Given the description of an element on the screen output the (x, y) to click on. 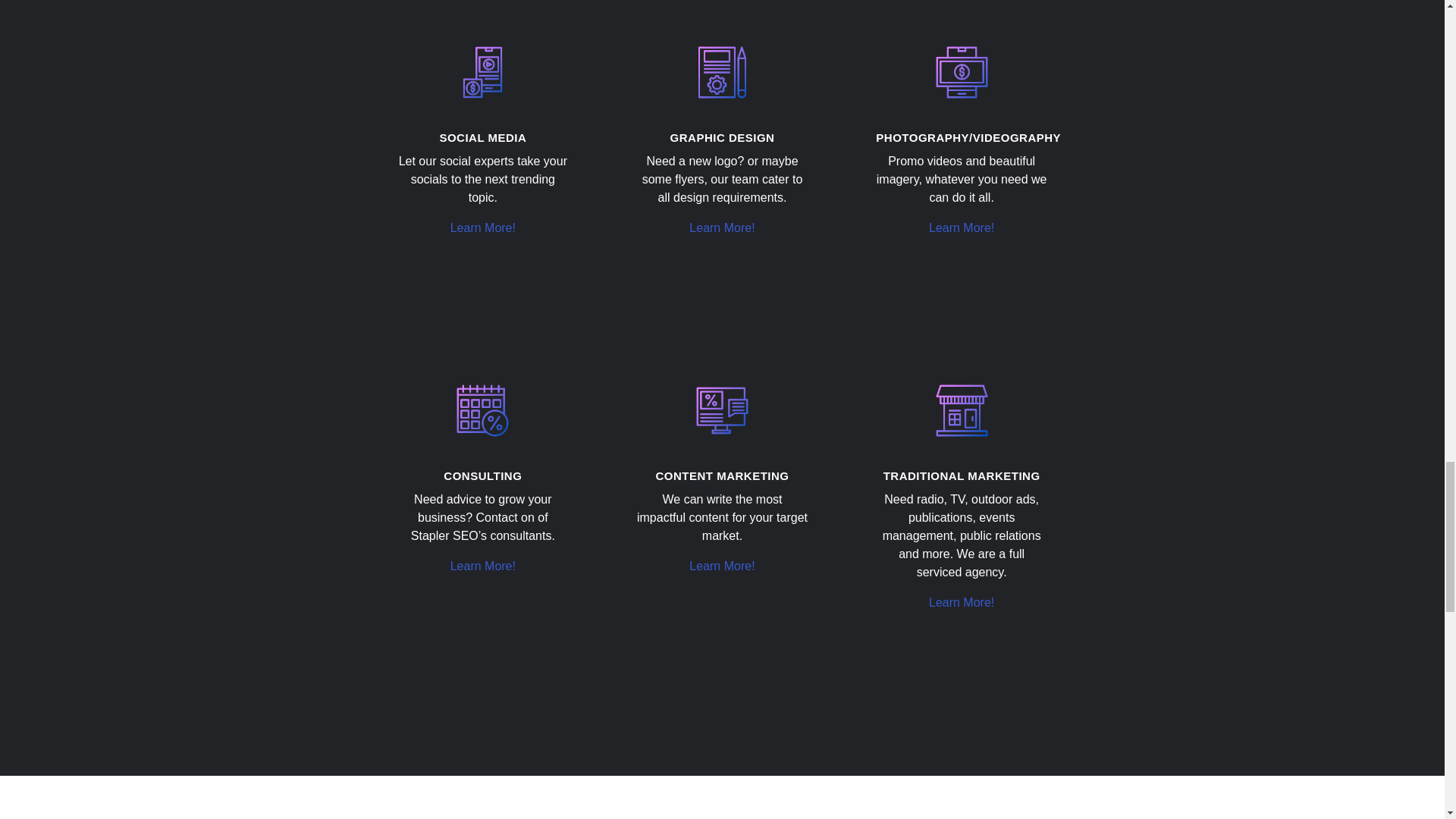
Learn More! (721, 565)
Learn More! (482, 227)
Learn More! (721, 227)
Learn More! (961, 227)
Learn More! (482, 565)
